Given the description of an element on the screen output the (x, y) to click on. 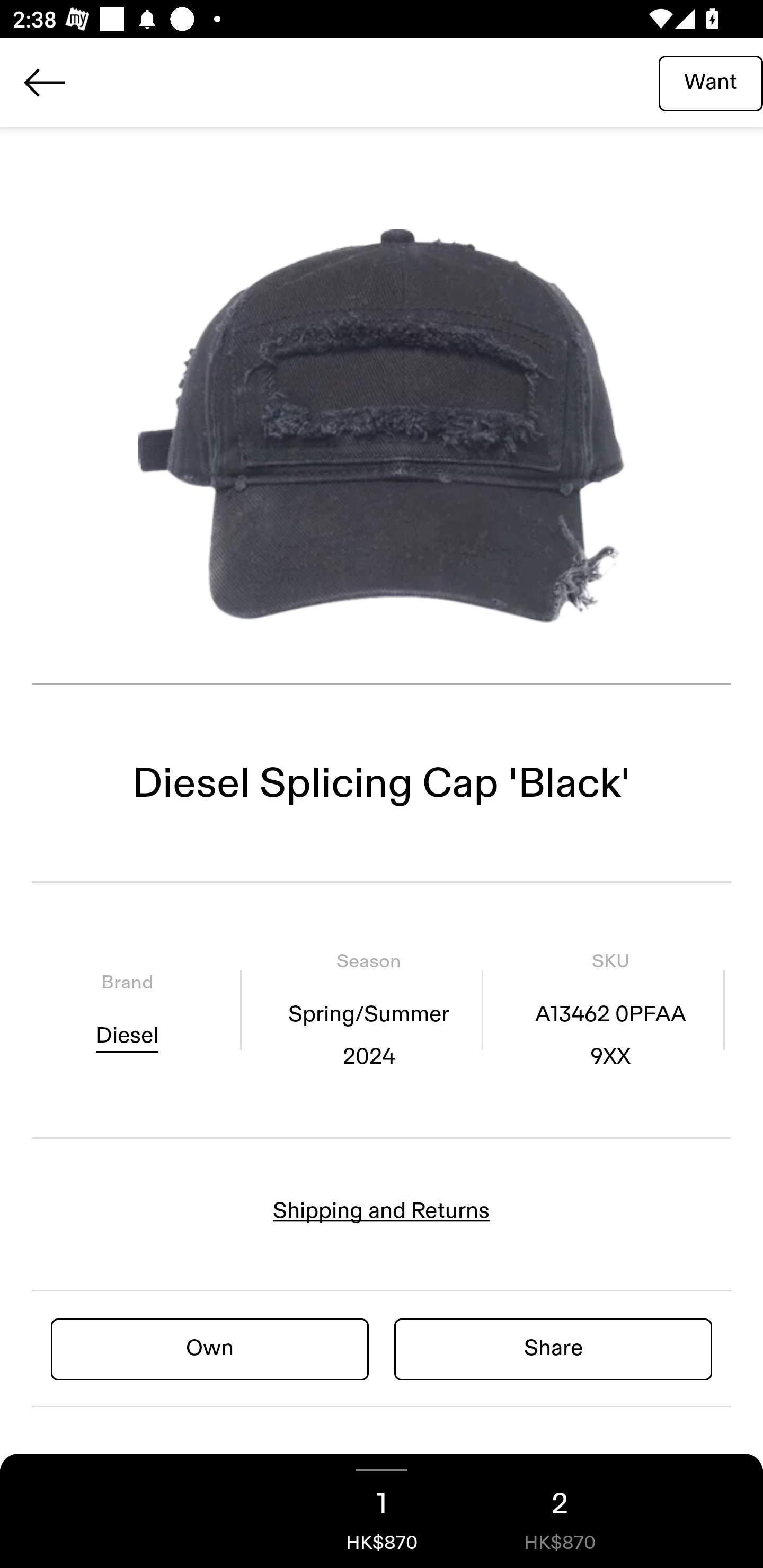
Want (710, 82)
Brand Diesel (126, 1009)
Season Spring/Summer 2024 (368, 1009)
SKU A13462 0PFAA 9XX (609, 1009)
Shipping and Returns (381, 1211)
Own (209, 1348)
Share (552, 1348)
1 HK$870 (381, 1510)
2 HK$870 (559, 1510)
